Given the description of an element on the screen output the (x, y) to click on. 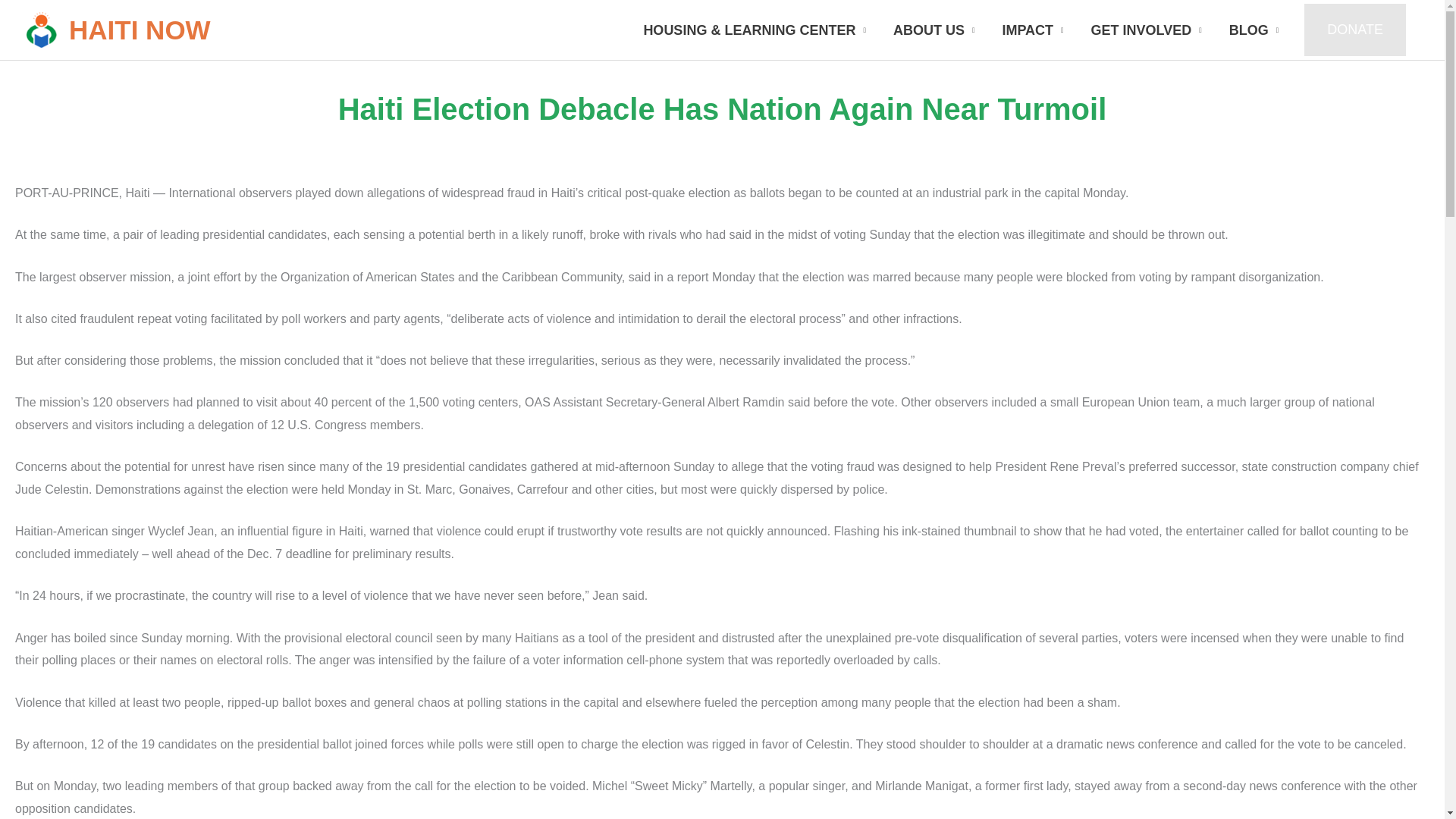
ABOUT US (933, 29)
DONATE (1355, 30)
About (933, 29)
GET INVOLVED (1146, 29)
IMPACT (1032, 29)
Programs (753, 29)
BLOG (1253, 29)
HAITI NOW (139, 30)
